Given the description of an element on the screen output the (x, y) to click on. 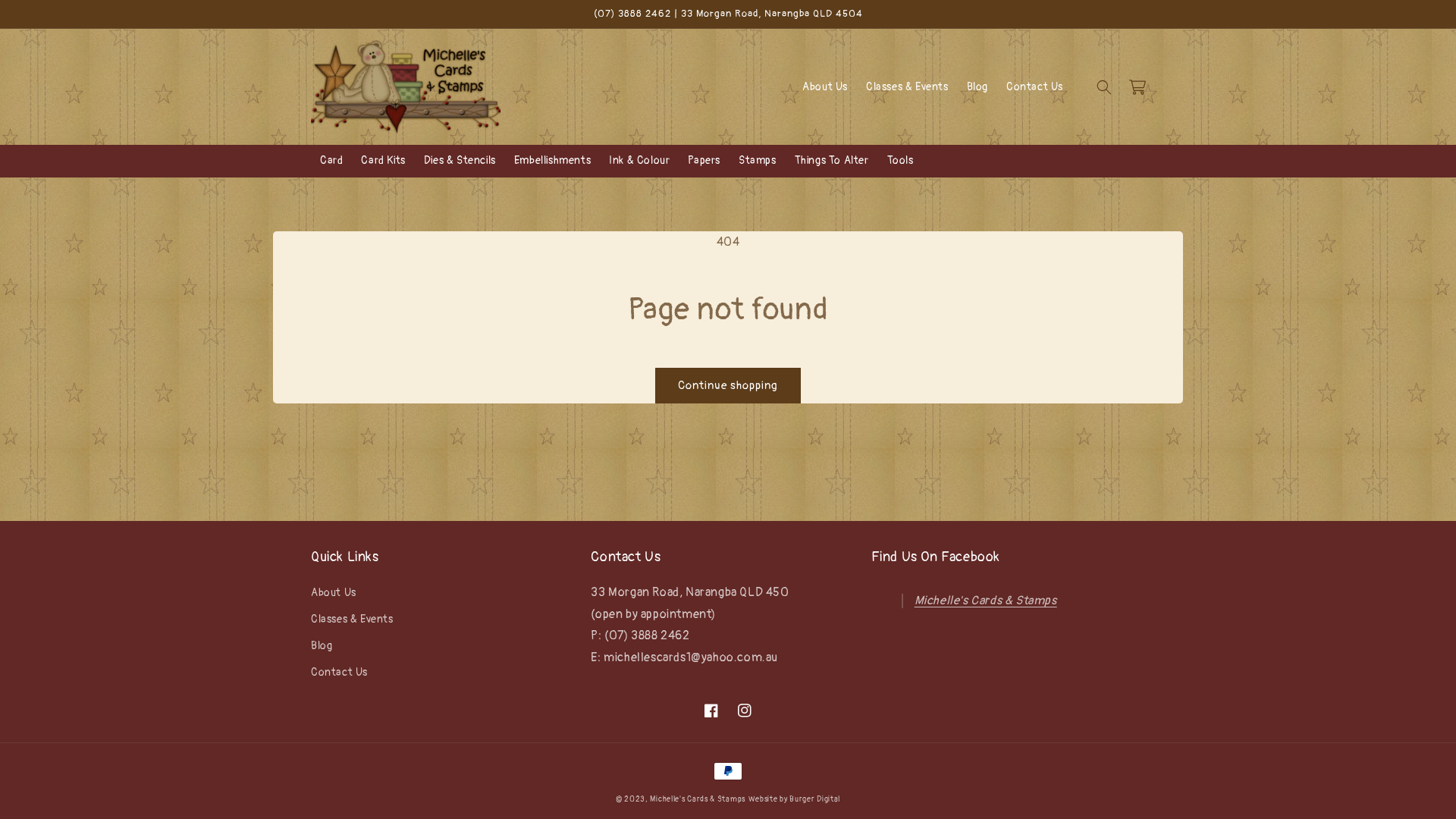
Classes & Events Element type: text (906, 87)
Ink & Colour Element type: text (638, 160)
Blog Element type: text (321, 645)
Card Kits Element type: text (382, 160)
Embellishments Element type: text (552, 160)
Stamps Element type: text (757, 160)
Contact Us Element type: text (338, 671)
Michelle's Cards & Stamps Element type: text (985, 600)
About Us Element type: text (824, 87)
Card Element type: text (330, 160)
Burger Digital Element type: text (814, 798)
About Us Element type: text (333, 594)
Facebook Element type: text (711, 710)
Tools Element type: text (900, 160)
Classes & Events Element type: text (351, 618)
Cart Element type: text (1137, 86)
Contact Us Element type: text (1034, 87)
Continue shopping Element type: text (727, 385)
Blog Element type: text (977, 87)
Things To Alter Element type: text (831, 160)
Michelle's Cards & Stamps Element type: text (697, 798)
Papers Element type: text (703, 160)
Dies & Stencils Element type: text (459, 160)
Instagram Element type: text (744, 710)
